Given the description of an element on the screen output the (x, y) to click on. 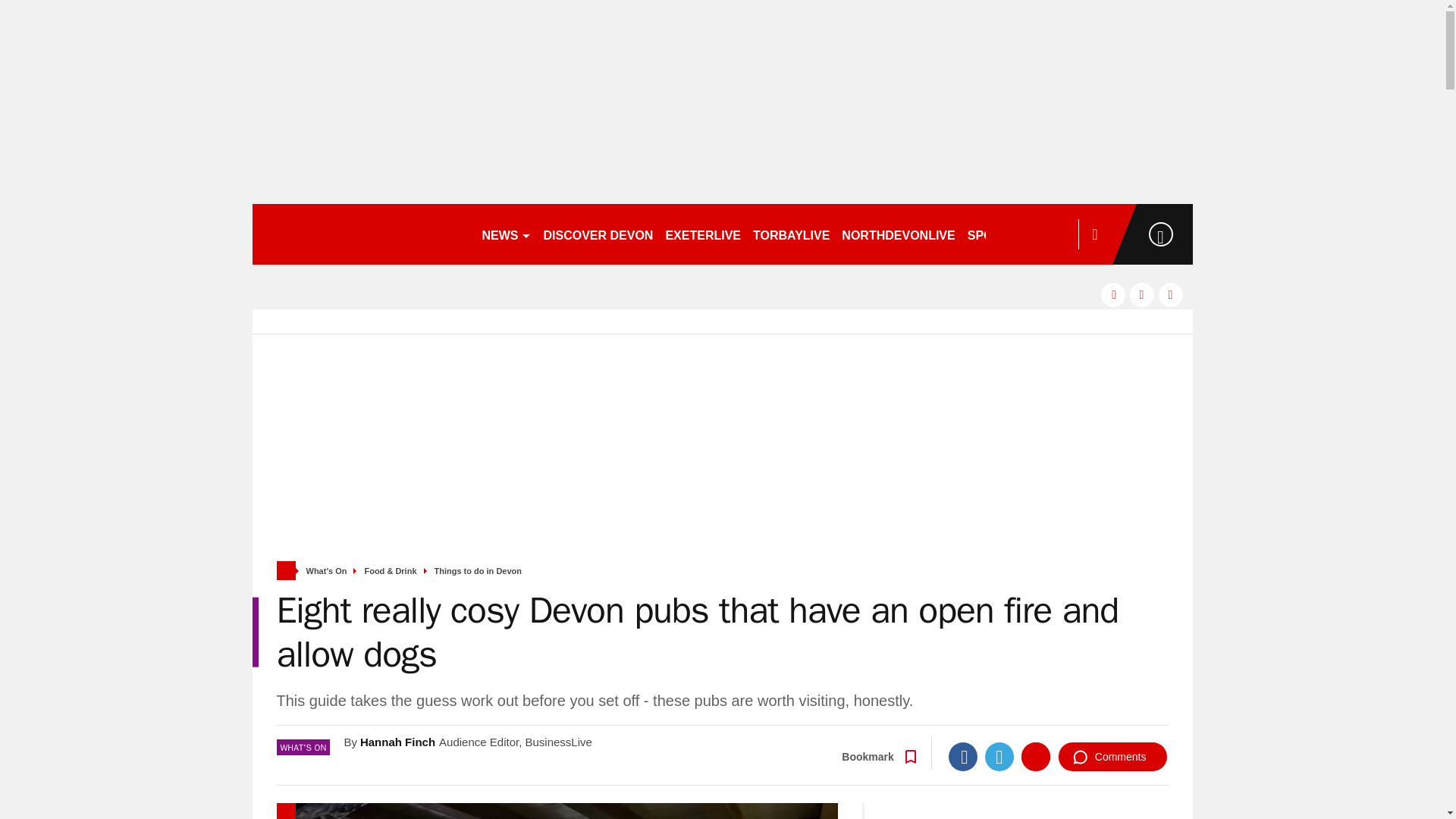
TORBAYLIVE (790, 233)
Facebook (962, 756)
twitter (1141, 294)
NORTHDEVONLIVE (897, 233)
DISCOVER DEVON (598, 233)
facebook (1112, 294)
instagram (1170, 294)
devonlive (359, 233)
SPORT (993, 233)
NEWS (506, 233)
EXETERLIVE (702, 233)
Twitter (999, 756)
Comments (1112, 756)
